Given the description of an element on the screen output the (x, y) to click on. 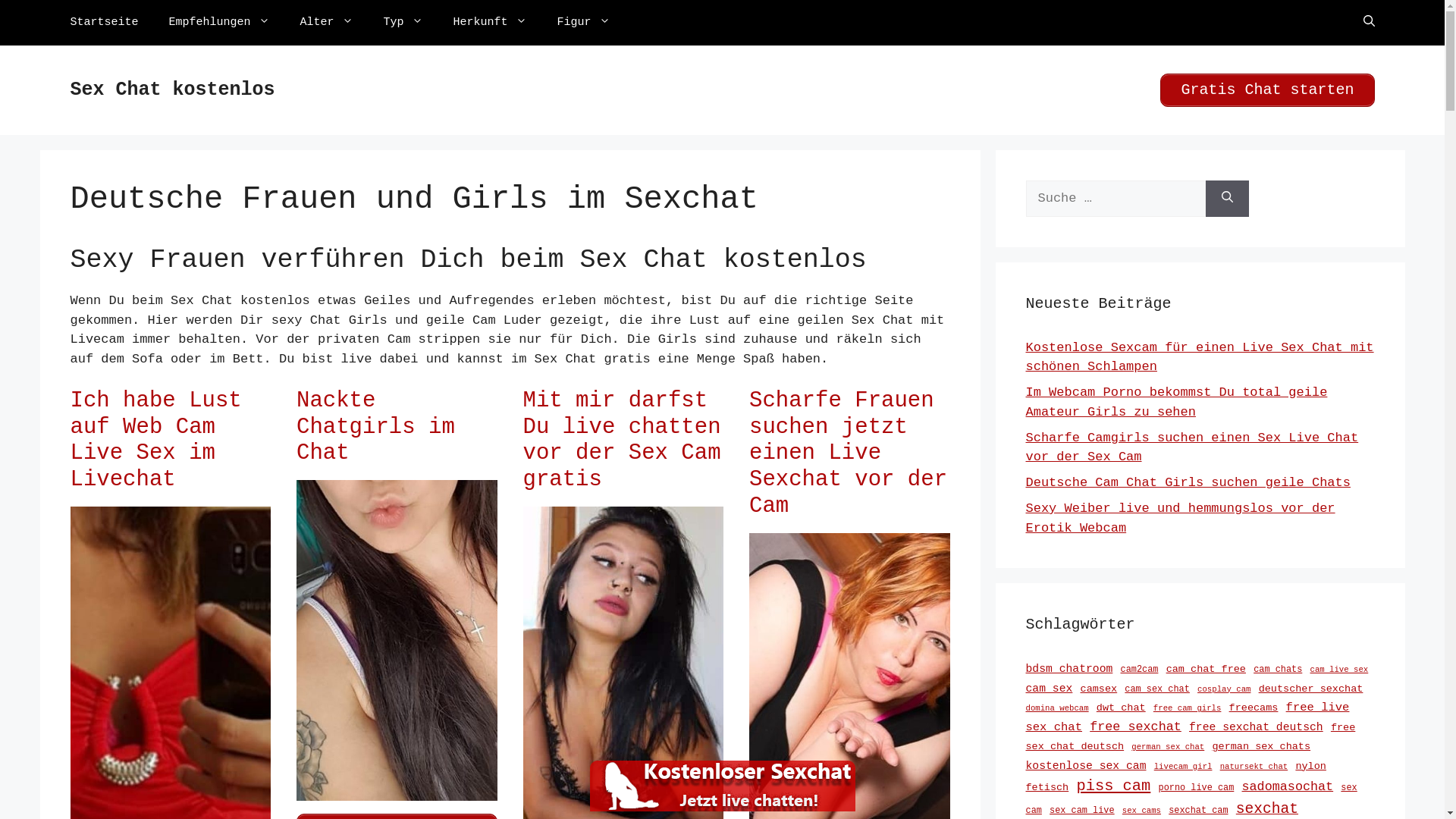
sex cams Element type: text (1141, 810)
kostenlose sex cam Element type: text (1085, 765)
dwt chat Element type: text (1120, 707)
sexchat cam Element type: text (1197, 810)
cam sex Element type: text (1048, 688)
Typ Element type: text (403, 22)
free sexchat Element type: text (1135, 725)
Suche nach: Element type: hover (1114, 198)
Herkunft Element type: text (490, 22)
cam live sex Element type: text (1339, 669)
piss cam Element type: text (1113, 785)
free sexchat deutsch Element type: text (1256, 726)
Figur Element type: text (583, 22)
free cam girls Element type: text (1187, 707)
Scharfe Frauen suchen jetzt einen Live Sexchat vor der Cam Element type: text (848, 453)
free live sex chat Element type: text (1187, 717)
cosplay cam Element type: text (1223, 688)
porno live cam Element type: text (1196, 787)
cam chat free Element type: text (1205, 668)
freecams Element type: text (1253, 707)
Nackte Chatgirls im Chat Element type: text (375, 427)
sadomasochat Element type: text (1287, 786)
deutscher sexchat Element type: text (1310, 687)
free sex chat deutsch Element type: text (1190, 737)
sex cam Element type: text (1190, 798)
Sex Chat kostenlos Element type: text (171, 89)
cam sex chat Element type: text (1156, 689)
Empfehlungen Element type: text (219, 22)
domina webcam Element type: text (1056, 707)
Scharfe Camgirls suchen einen Sex Live Chat vor der Sex Cam Element type: text (1191, 447)
german sex chats Element type: text (1260, 746)
Sexy Weiber live und hemmungslos vor der Erotik Webcam Element type: text (1179, 518)
cam2cam Element type: text (1139, 669)
Gratis Chat starten Element type: text (1267, 89)
cam chats Element type: text (1277, 669)
Startseite Element type: text (103, 22)
camsex Element type: text (1098, 687)
german sex chat Element type: text (1167, 746)
bdsm chatroom Element type: text (1068, 668)
livecam girl Element type: text (1183, 765)
Deutsche Cam Chat Girls suchen geile Chats Element type: text (1187, 482)
nylon fetisch Element type: text (1175, 776)
Nackte Chatgirls im Chat Element type: hover (396, 791)
Mit mir darfst Du live chatten vor der Sex Cam gratis Element type: text (622, 440)
natursekt chat Element type: text (1254, 765)
Ich habe Lust auf Web Cam Live Sex im Livechat Element type: text (155, 440)
sex cam live Element type: text (1081, 810)
Alter Element type: text (326, 22)
